Given the description of an element on the screen output the (x, y) to click on. 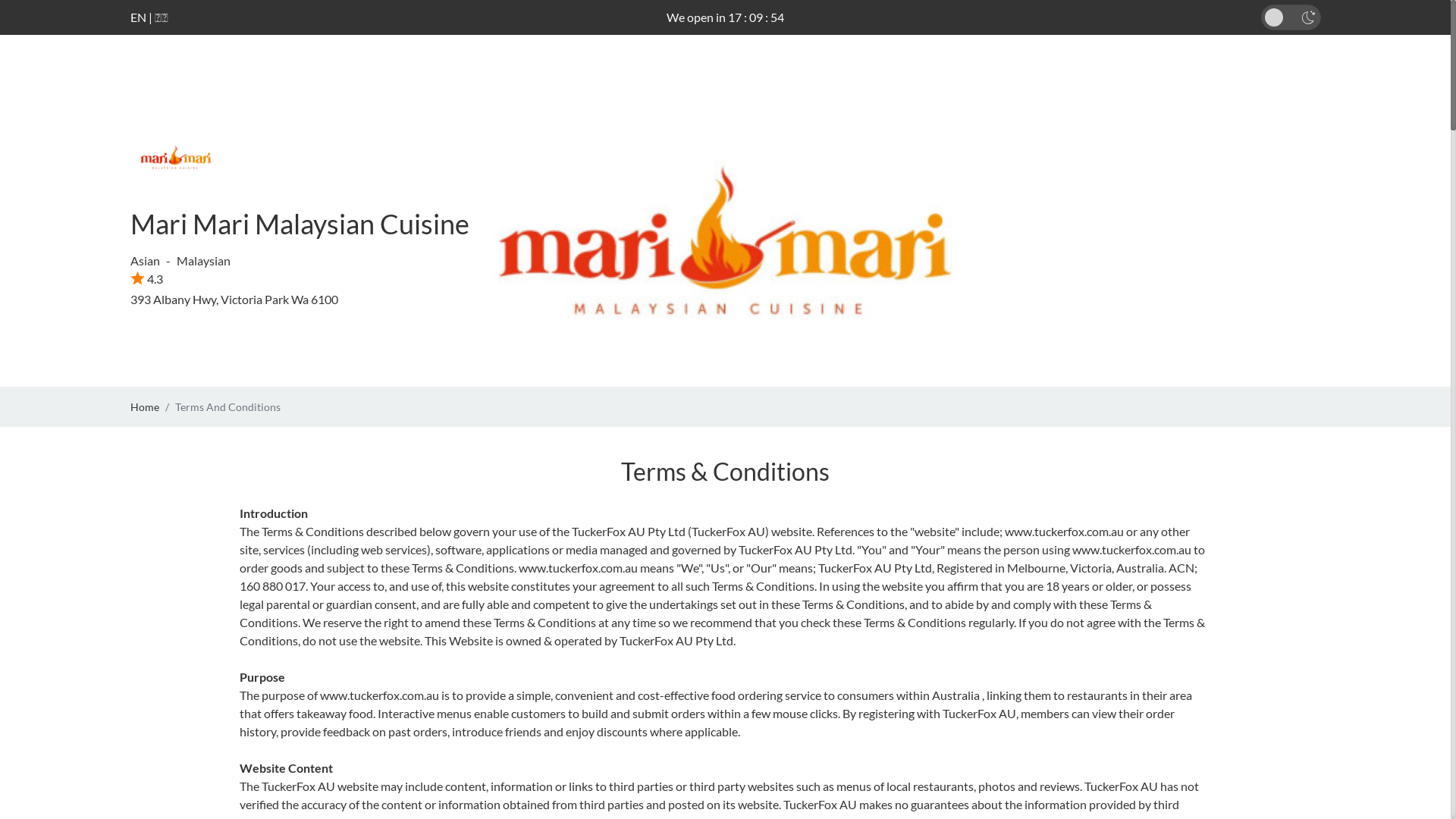
Mari Mari Malaysian Cuisine Element type: text (299, 223)
EN Element type: text (138, 16)
4.3 Element type: text (146, 278)
Home Element type: text (144, 406)
